Given the description of an element on the screen output the (x, y) to click on. 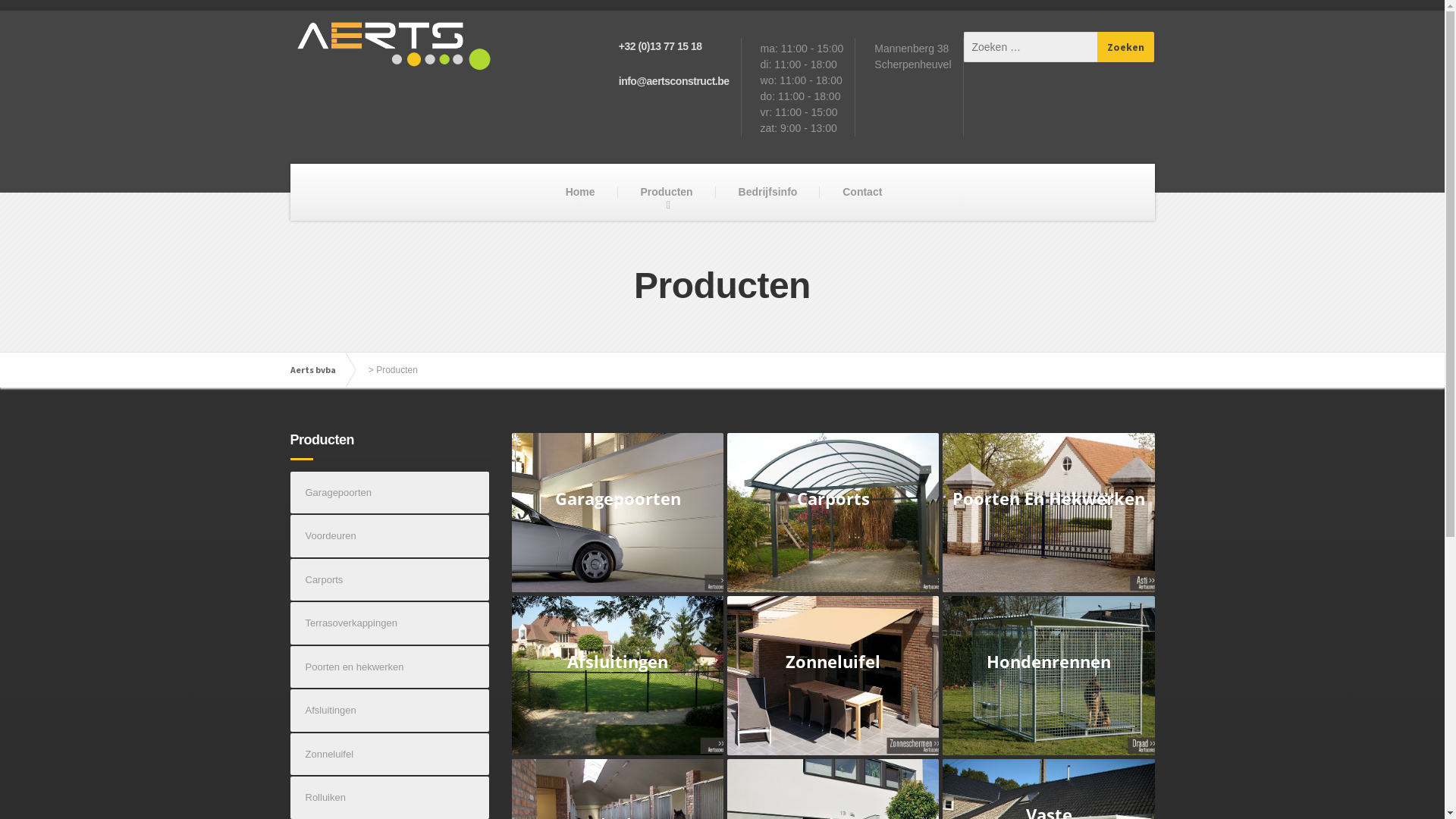
Contact Element type: text (861, 191)
+32 (0)13 77 15 18


info@aertsconstruct.be Element type: text (676, 86)
Producten Element type: text (666, 191)
Poorten en hekwerken Element type: text (389, 667)
Home Element type: text (580, 191)
Carports Element type: text (389, 579)
Garagepoorten Element type: text (389, 492)
Zoeken Element type: text (1125, 46)
Voordeuren Element type: text (389, 535)
Afsluitingen Element type: text (389, 710)
Aerts bvba Element type: text (319, 369)
Terrasoverkappingen Element type: text (389, 623)
Bedrijfsinfo Element type: text (767, 191)
Zonneluifel Element type: text (389, 754)
